Given the description of an element on the screen output the (x, y) to click on. 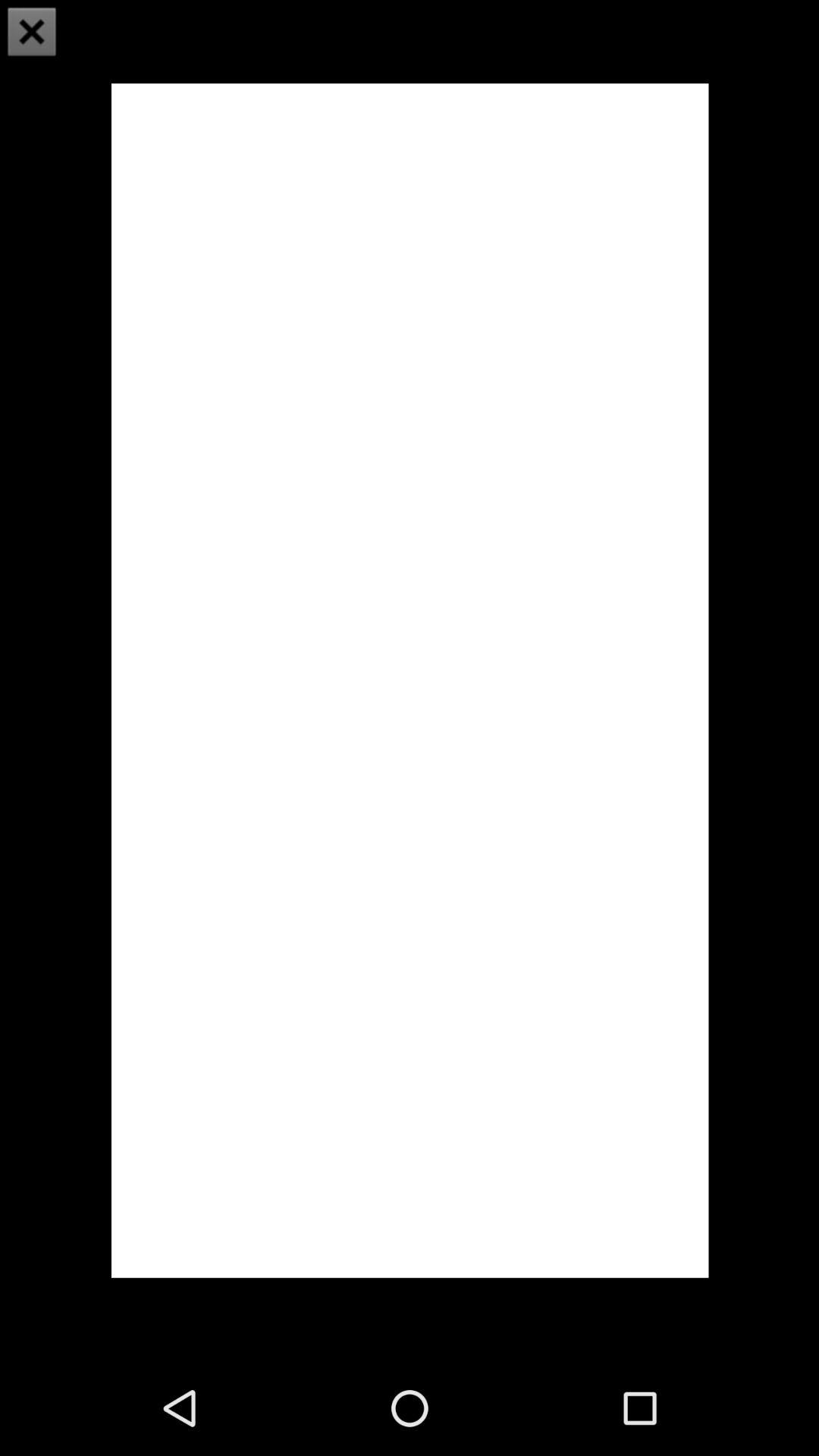
select icon at the top left corner (31, 31)
